Given the description of an element on the screen output the (x, y) to click on. 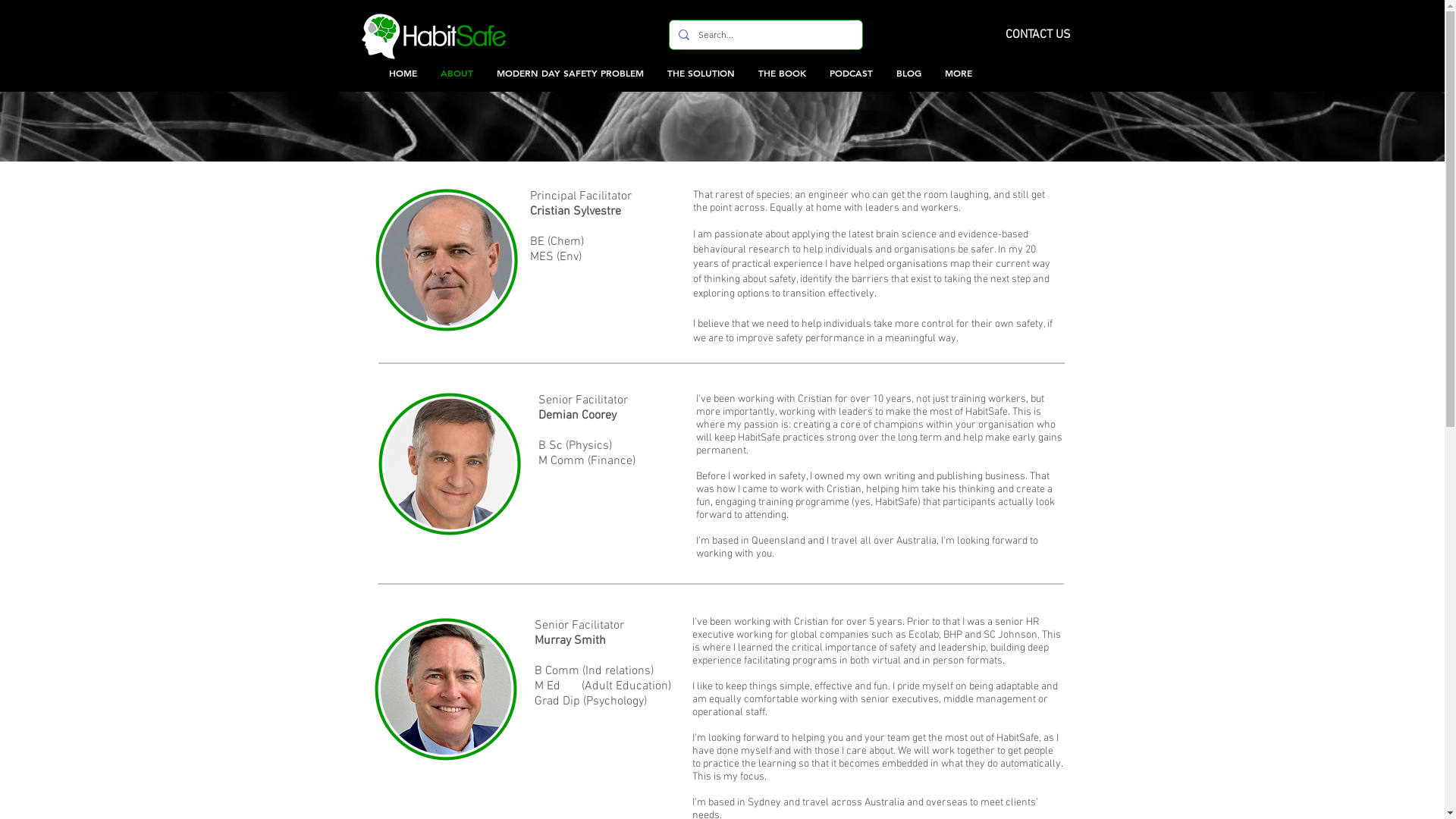
HS_Site_Profile_Img_-02.png Element type: hover (445, 689)
ABOUT Element type: text (455, 72)
HS_Site_Profile_Img_-03.png Element type: hover (448, 463)
BLOG Element type: text (908, 72)
THE BOOK Element type: text (781, 72)
HOME Element type: text (402, 72)
PODCAST Element type: text (850, 72)
MODERN DAY SAFETY PROBLEM Element type: text (568, 72)
CONTACT US Element type: text (1038, 34)
THE SOLUTION Element type: text (700, 72)
HS_Site_Profile_Img_-01.png Element type: hover (445, 259)
